Given the description of an element on the screen output the (x, y) to click on. 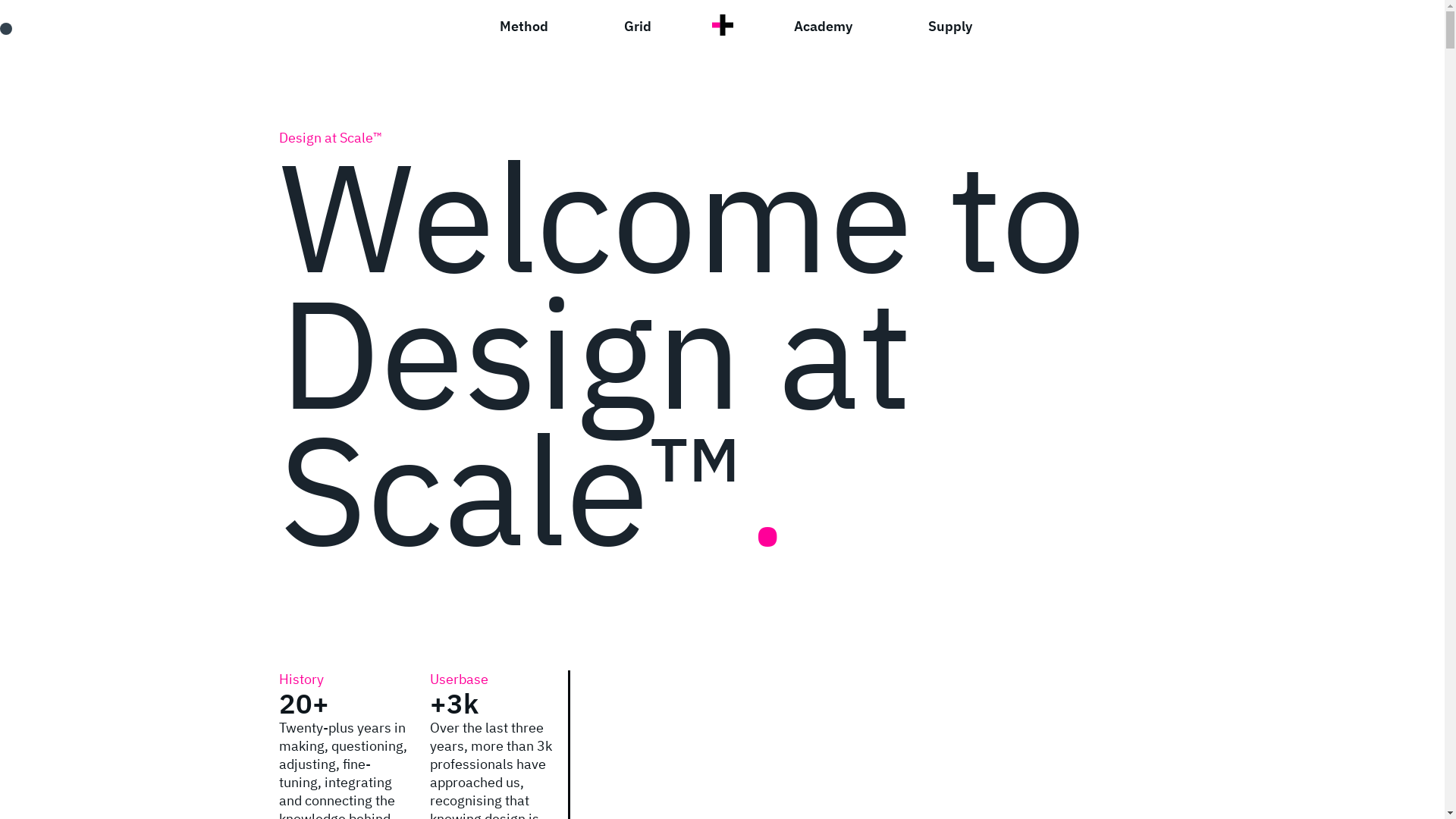
Method Element type: text (523, 24)
Supply Element type: text (950, 24)
Grid Element type: text (617, 24)
Academy Element type: text (841, 24)
